Given the description of an element on the screen output the (x, y) to click on. 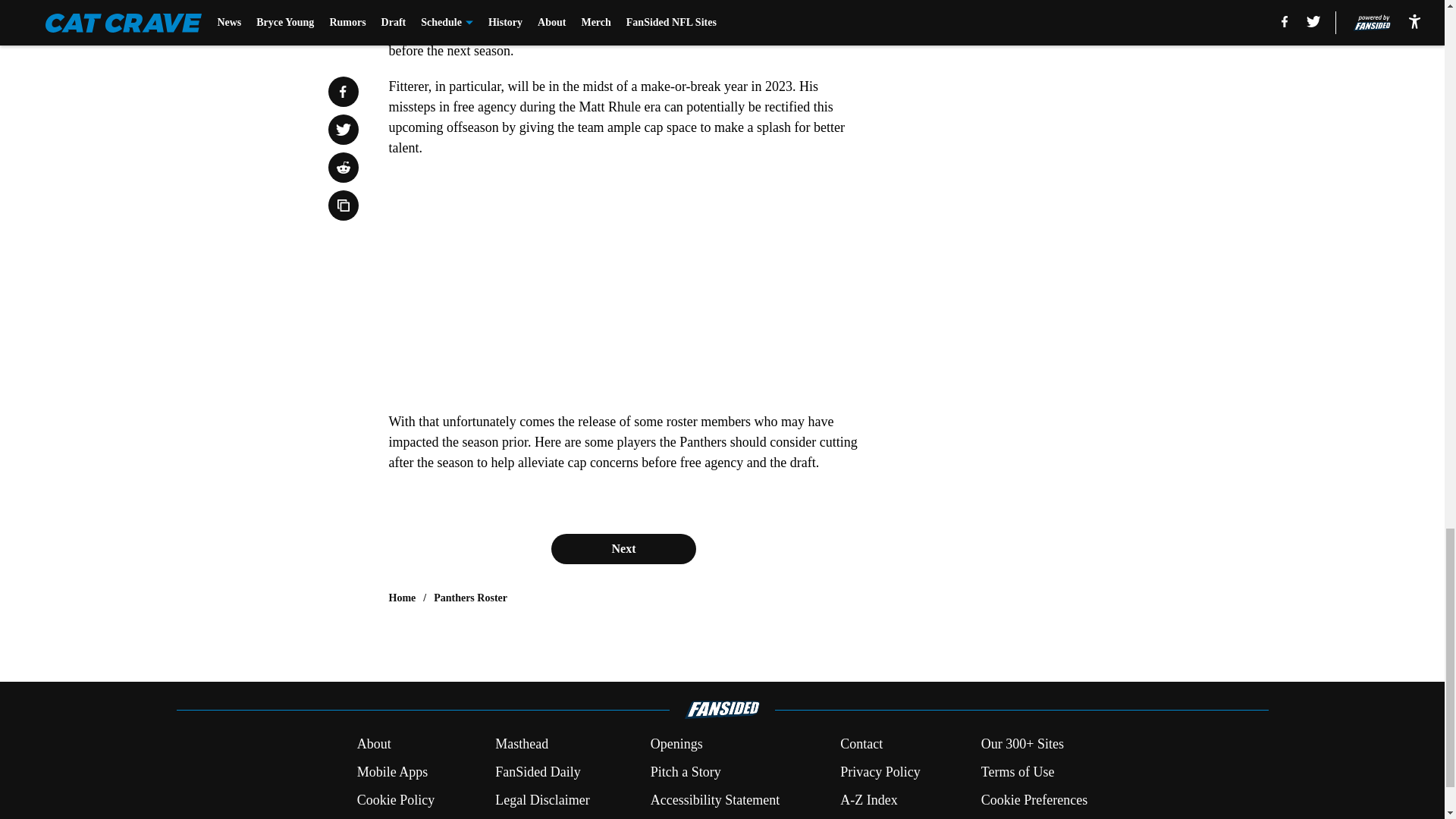
Contact (861, 743)
Masthead (521, 743)
finding a new quarterback (656, 9)
Home (401, 598)
Panthers Roster (469, 598)
About (373, 743)
Openings (676, 743)
Next (622, 548)
Mobile Apps (392, 772)
